Given the description of an element on the screen output the (x, y) to click on. 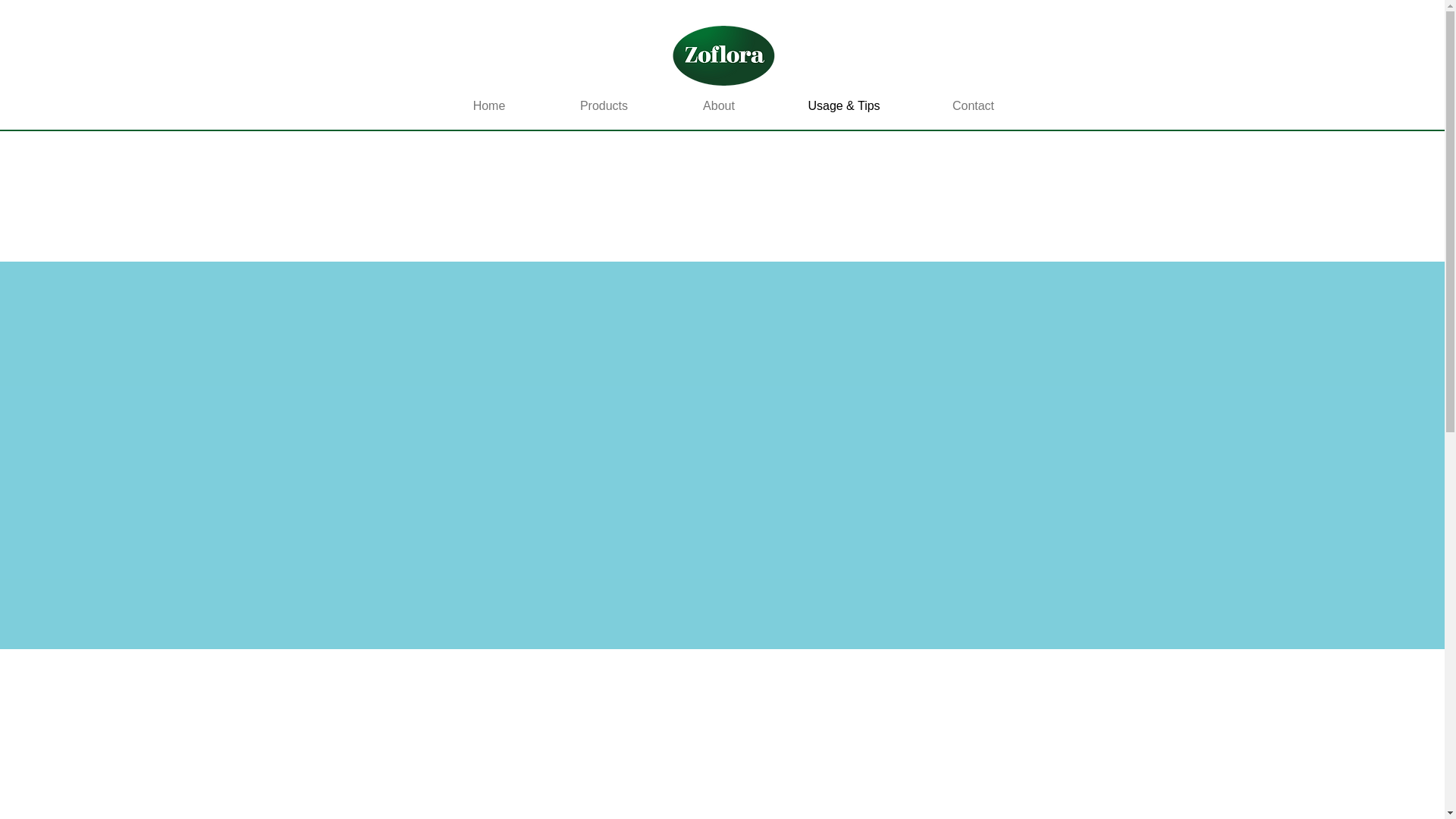
Products (604, 105)
Home (488, 105)
Contact (972, 105)
About (719, 105)
